Given the description of an element on the screen output the (x, y) to click on. 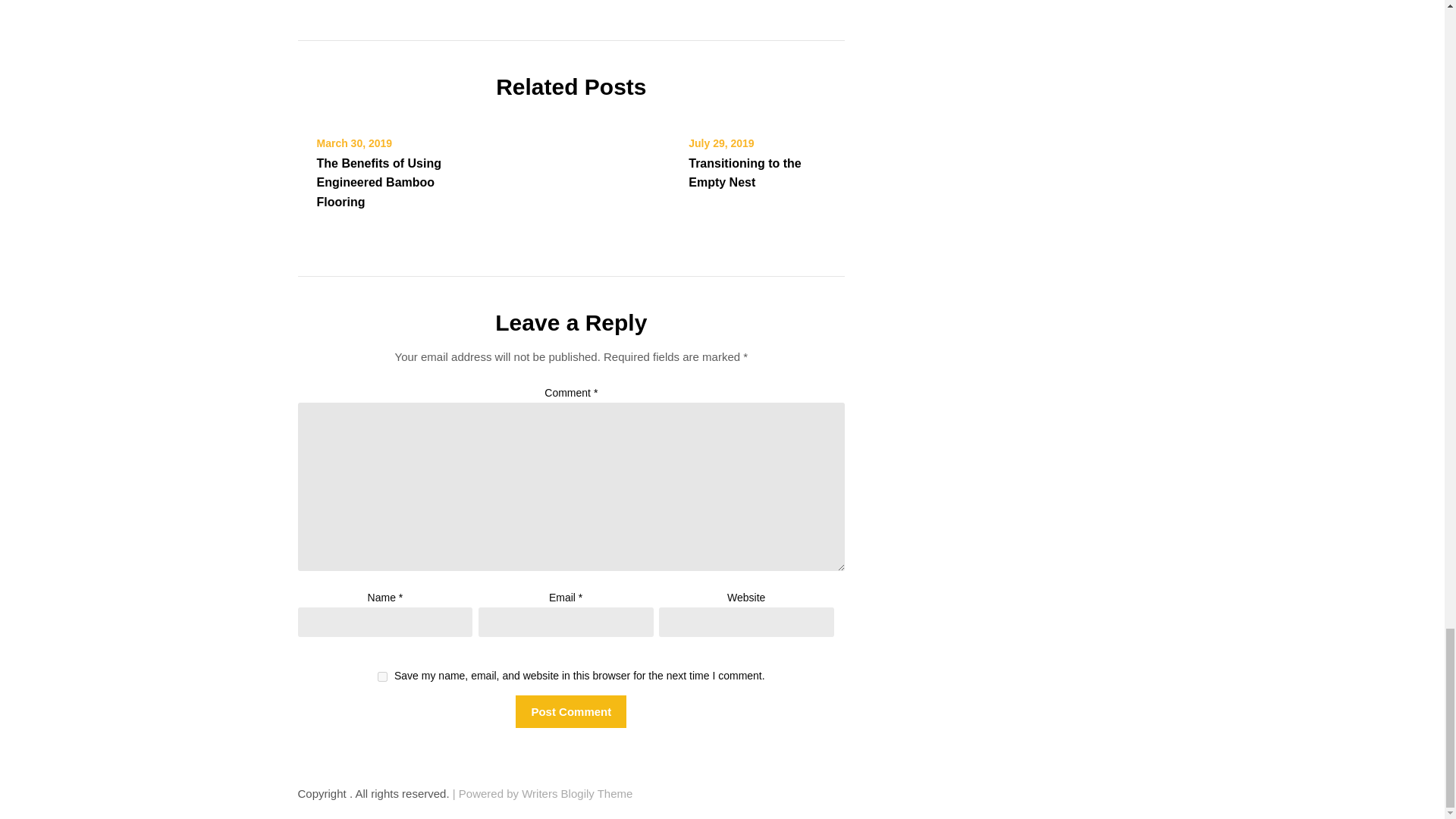
Post Comment (570, 711)
Post Comment (570, 711)
Transitioning to the Empty Nest (744, 173)
yes (382, 676)
The Benefits of Using Engineered Bamboo Flooring (379, 182)
